Given the description of an element on the screen output the (x, y) to click on. 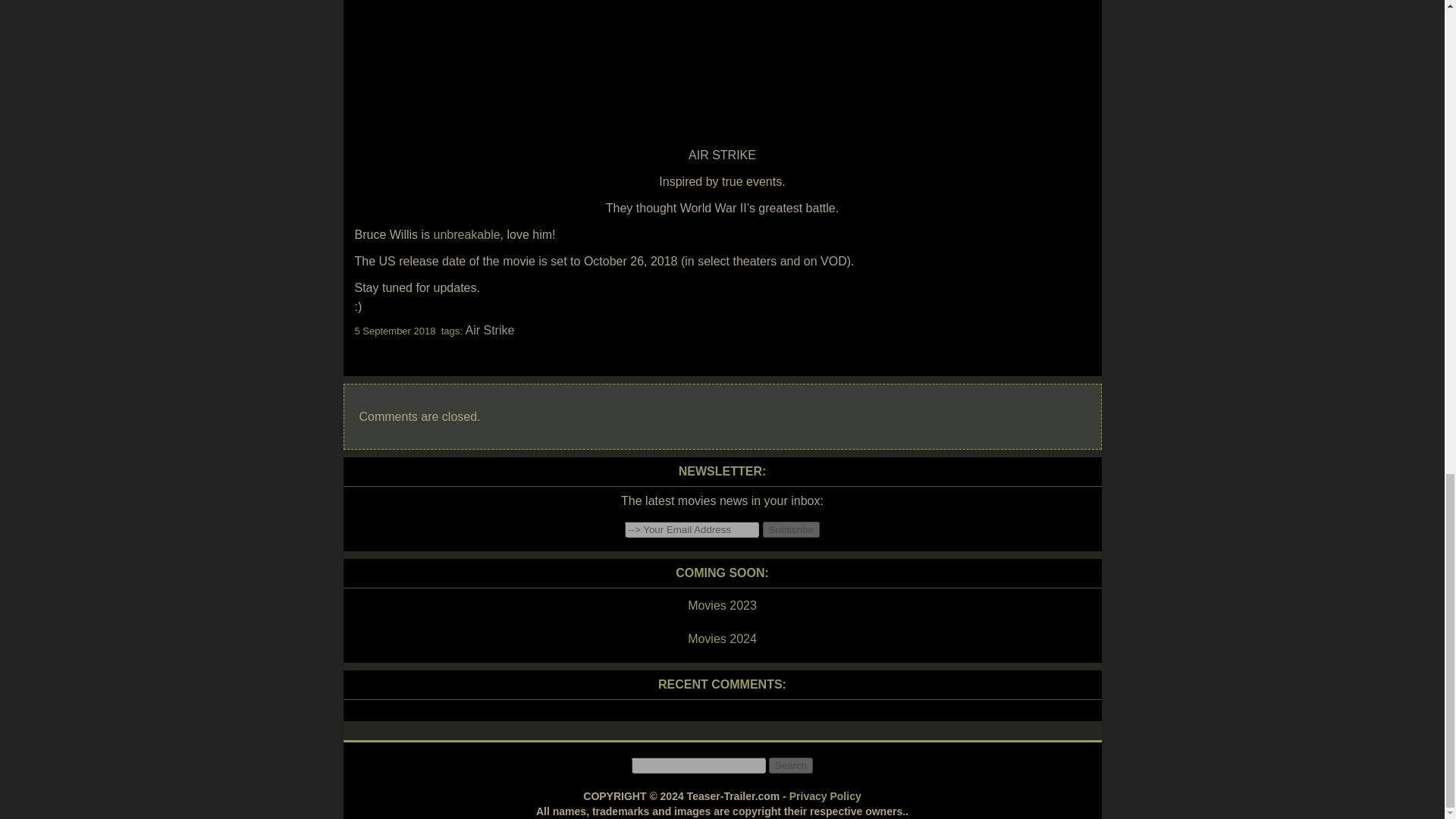
Search (790, 765)
Air Strike (488, 329)
Search (790, 765)
Movies 2024 (721, 639)
Subscribe (790, 529)
unbreakable (466, 234)
Subscribe (790, 529)
Movies 2023 (721, 605)
Privacy Policy (825, 796)
